Given the description of an element on the screen output the (x, y) to click on. 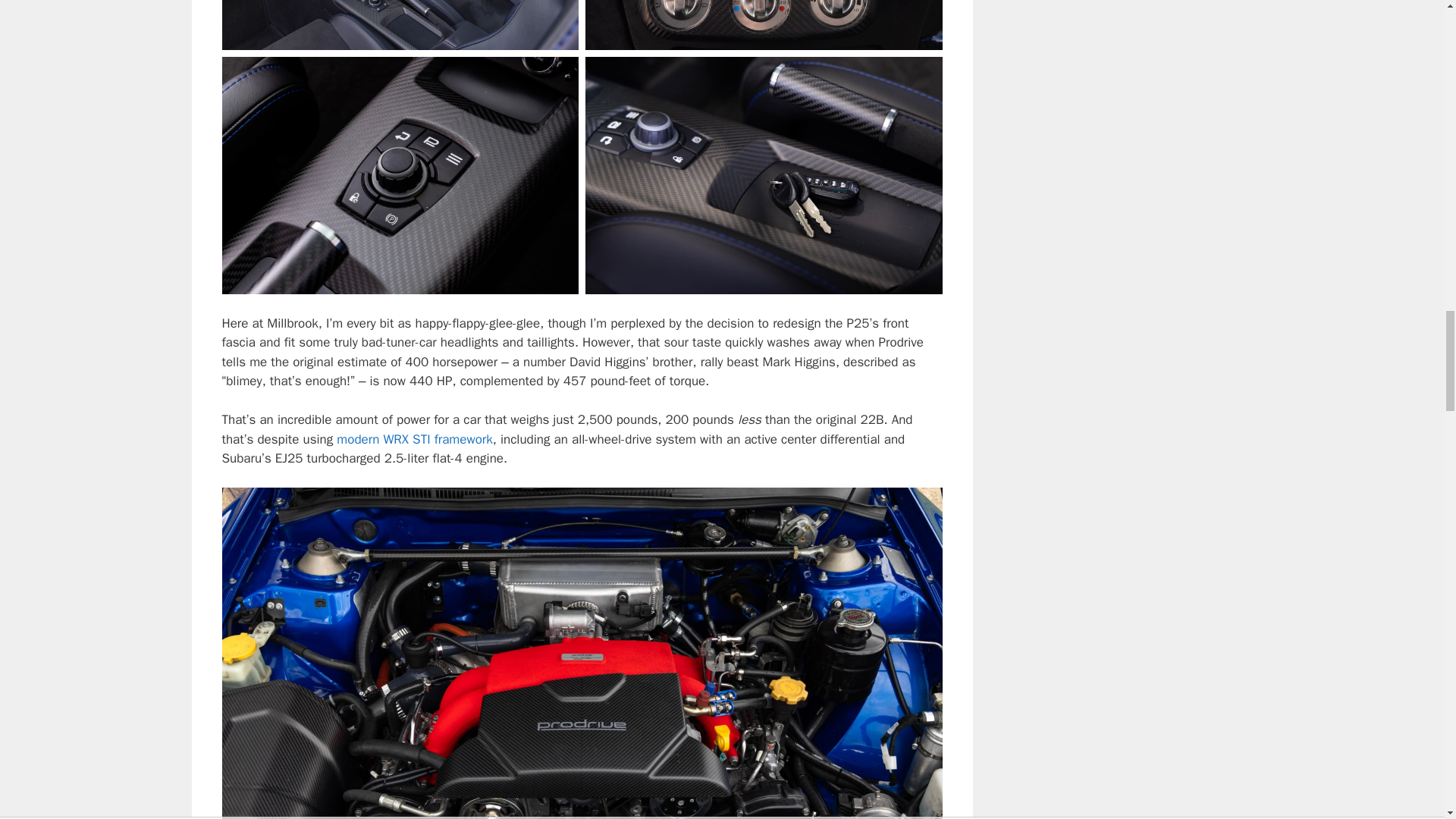
modern WRX STI framework (414, 439)
